Given the description of an element on the screen output the (x, y) to click on. 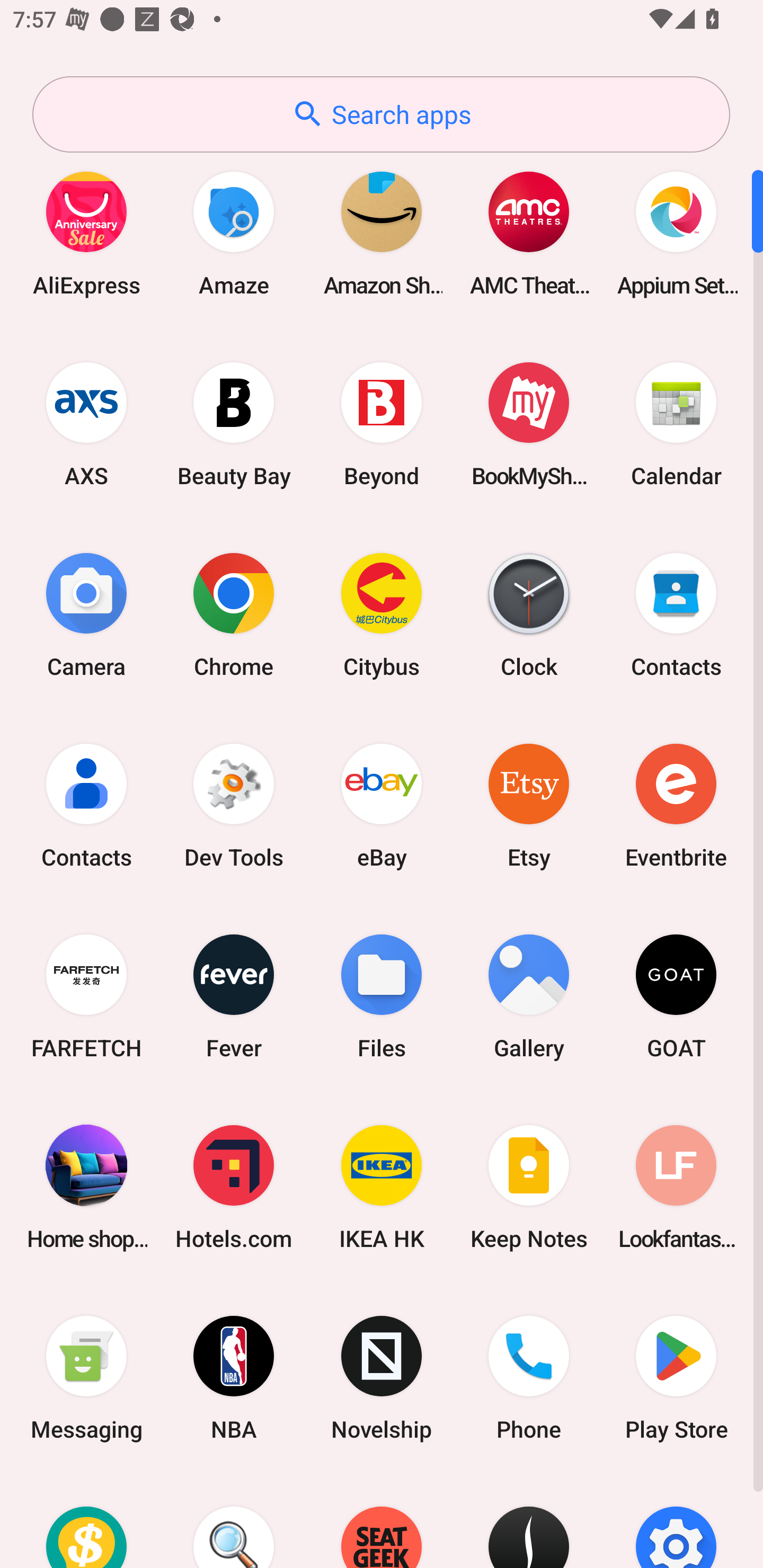
  Search apps (381, 114)
AliExpress (86, 233)
Amaze (233, 233)
Amazon Shopping (381, 233)
AMC Theatres (528, 233)
Appium Settings (676, 233)
AXS (86, 424)
Beauty Bay (233, 424)
Beyond (381, 424)
BookMyShow (528, 424)
Calendar (676, 424)
Camera (86, 614)
Chrome (233, 614)
Citybus (381, 614)
Clock (528, 614)
Contacts (676, 614)
Contacts (86, 805)
Dev Tools (233, 805)
eBay (381, 805)
Etsy (528, 805)
Eventbrite (676, 805)
FARFETCH (86, 996)
Fever (233, 996)
Files (381, 996)
Gallery (528, 996)
GOAT (676, 996)
Home shopping (86, 1186)
Hotels.com (233, 1186)
IKEA HK (381, 1186)
Keep Notes (528, 1186)
Lookfantastic (676, 1186)
Messaging (86, 1377)
NBA (233, 1377)
Novelship (381, 1377)
Phone (528, 1377)
Play Store (676, 1377)
